Given the description of an element on the screen output the (x, y) to click on. 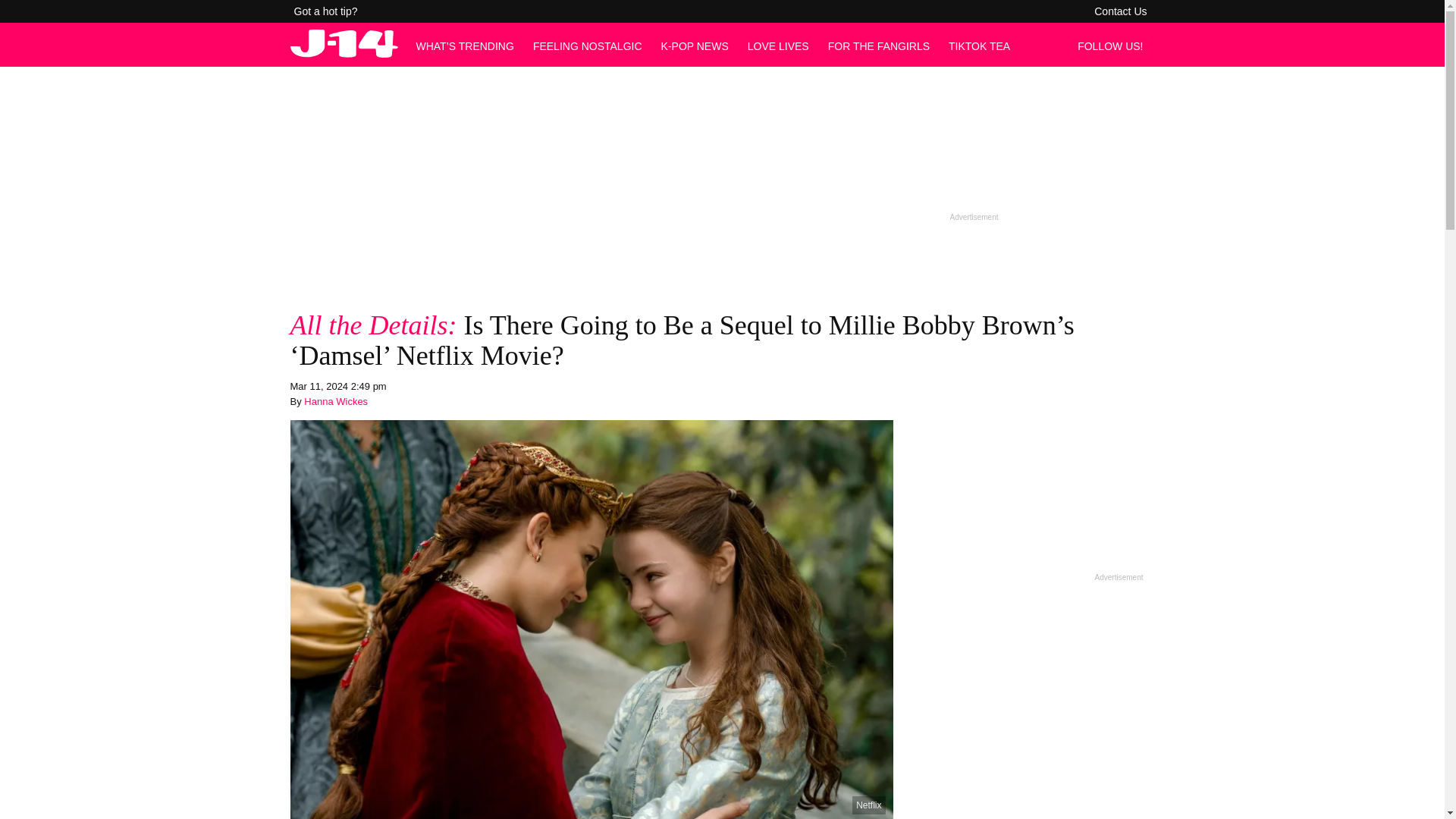
FEELING NOSTALGIC (587, 46)
FOLLOW US! (1114, 45)
Got a hot tip? (325, 11)
3rd party ad content (1028, 473)
Posts by Hanna Wickes (336, 401)
3rd party ad content (721, 174)
Hanna Wickes (336, 401)
K-POP NEWS (695, 46)
FOR THE FANGIRLS (879, 46)
Home (343, 52)
